Given the description of an element on the screen output the (x, y) to click on. 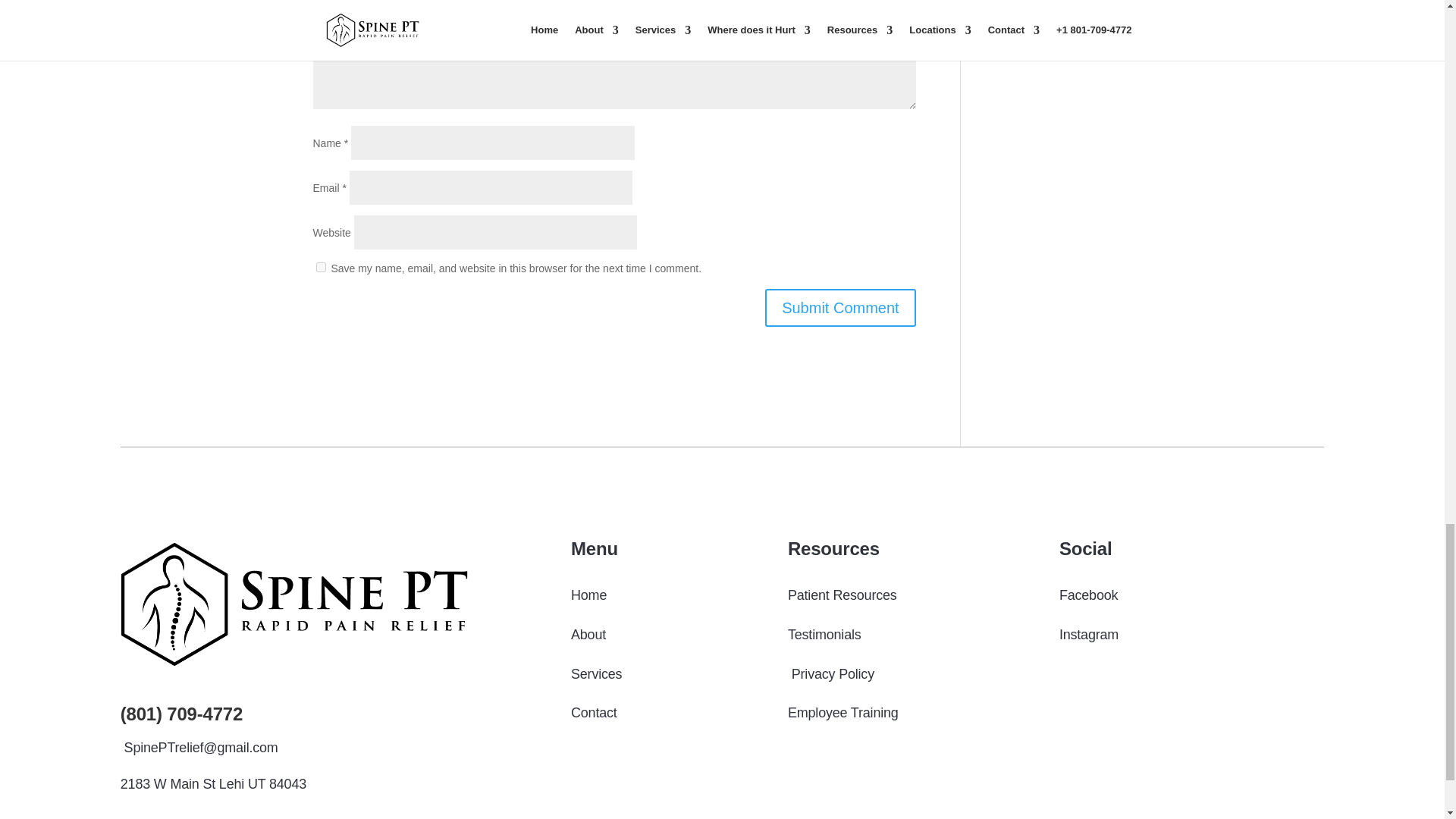
yes (319, 266)
Submit Comment (840, 307)
Submit Comment (840, 307)
